Given the description of an element on the screen output the (x, y) to click on. 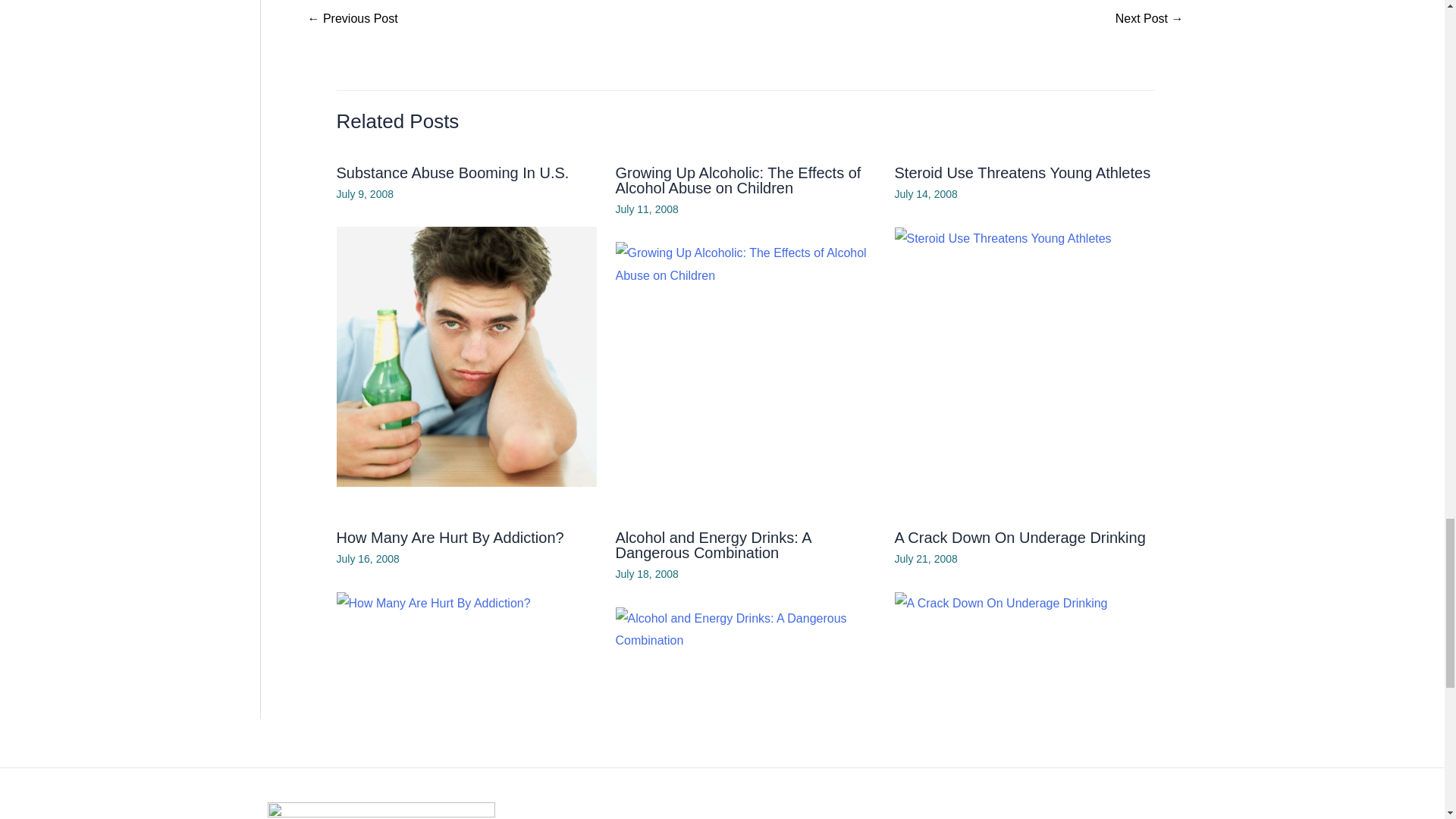
Should Schools Implement Random Drug Tests? (352, 19)
